Given the description of an element on the screen output the (x, y) to click on. 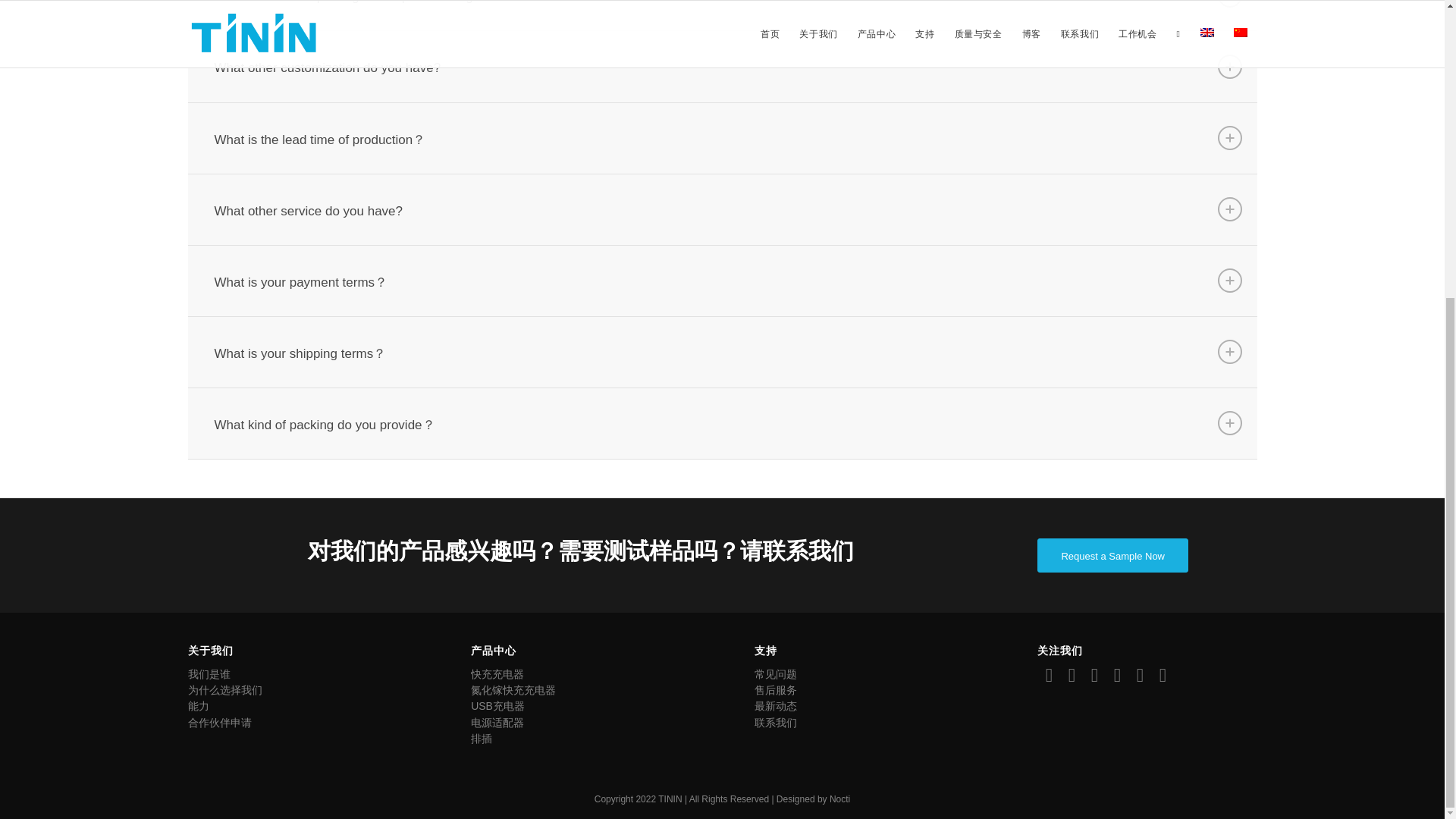
Linkedin (1094, 674)
Request a Sample Now (1112, 555)
Facebook (1047, 674)
Twitter (1071, 674)
Skype (1139, 674)
Youtube (1162, 674)
Pinterest (1116, 674)
